Given the description of an element on the screen output the (x, y) to click on. 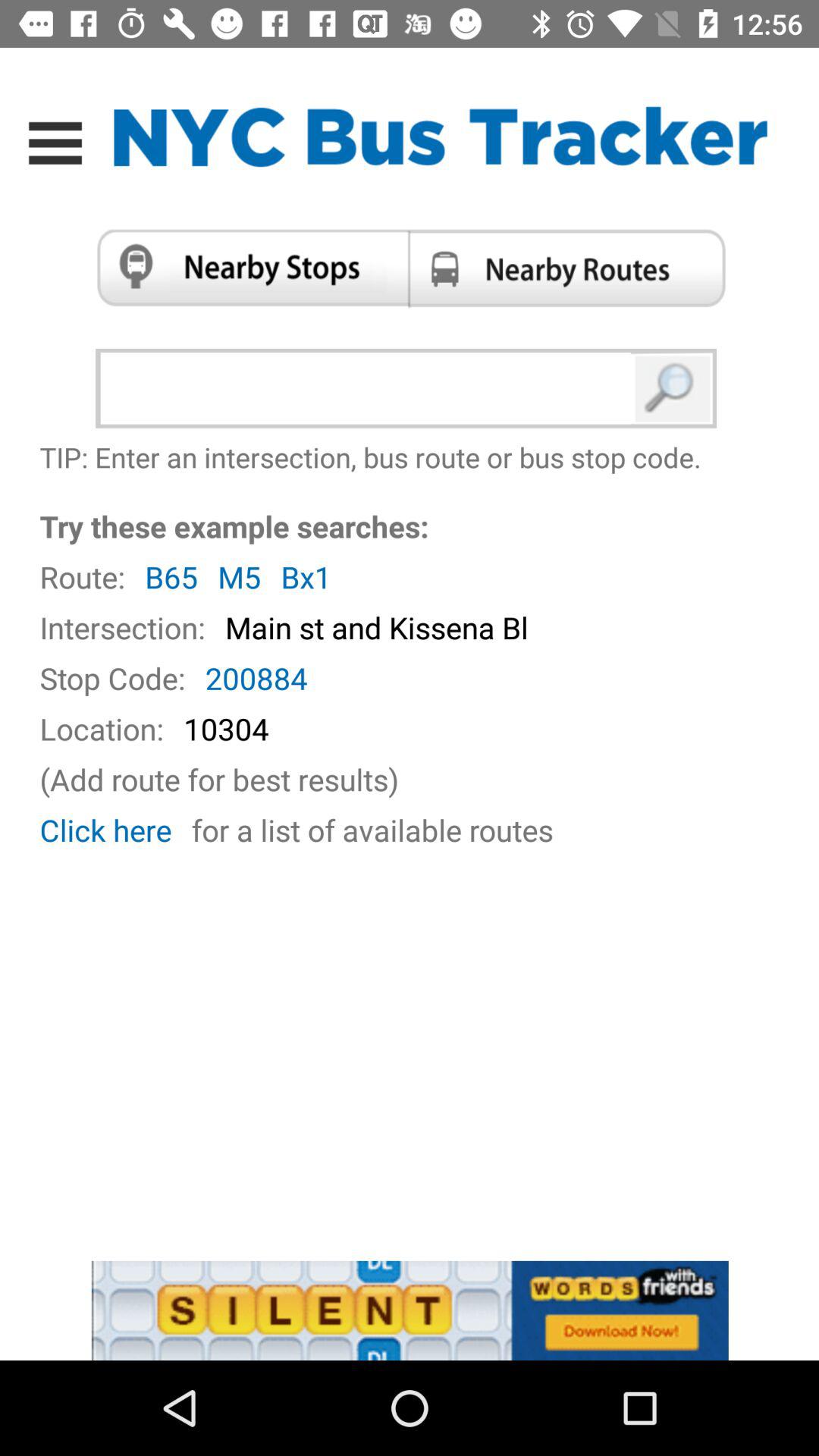
words with friends advertisement (409, 1310)
